Given the description of an element on the screen output the (x, y) to click on. 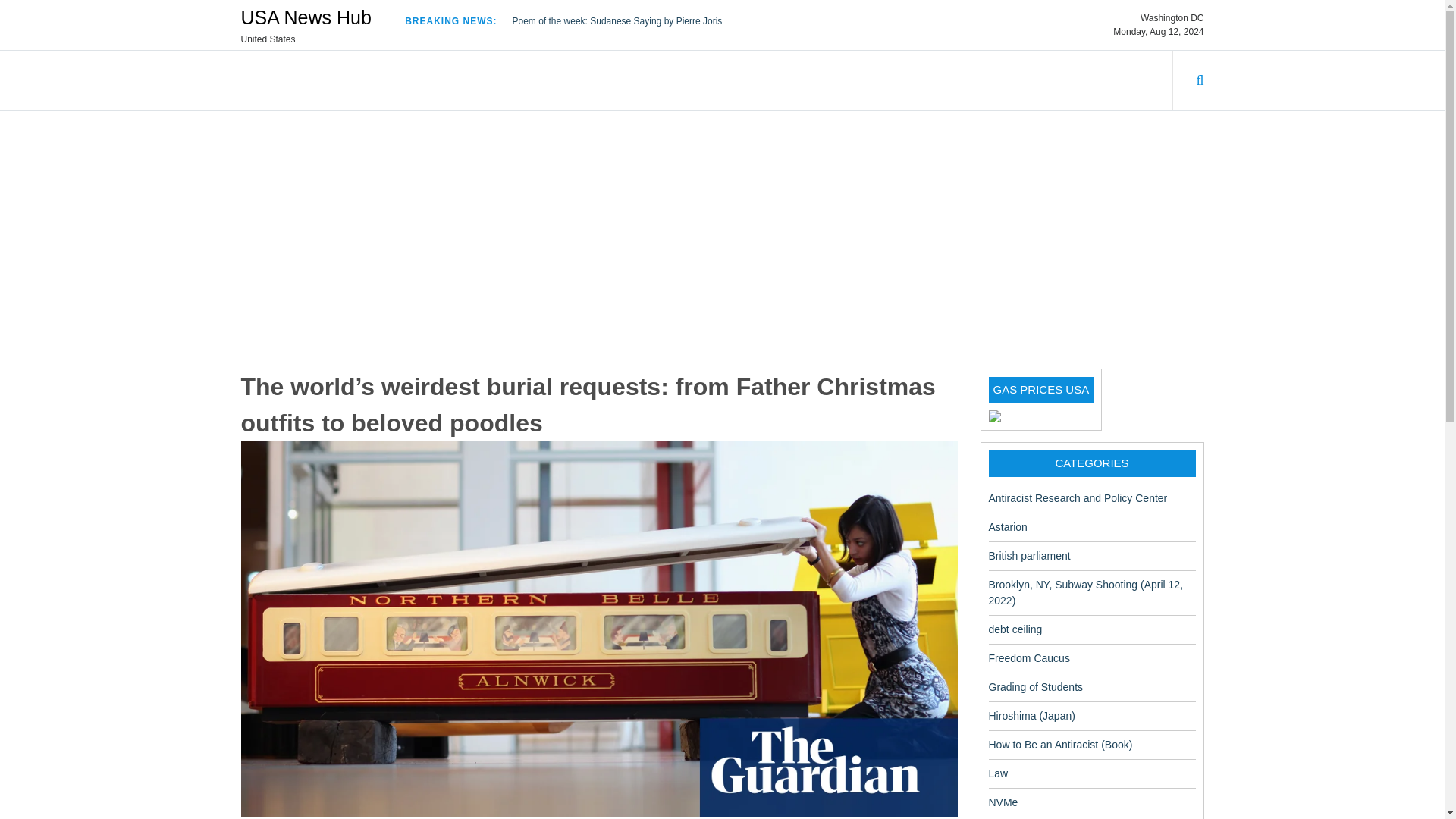
Astarion (1007, 526)
debt ceiling (1015, 629)
NVMe (1002, 802)
Poem of the week: Sudanese Saying by Pierre Joris (617, 20)
Grading of Students (1035, 686)
Antiracist Research and Policy Center (1077, 497)
British parliament (1029, 554)
Law (998, 773)
Freedom Caucus (1029, 657)
